Given the description of an element on the screen output the (x, y) to click on. 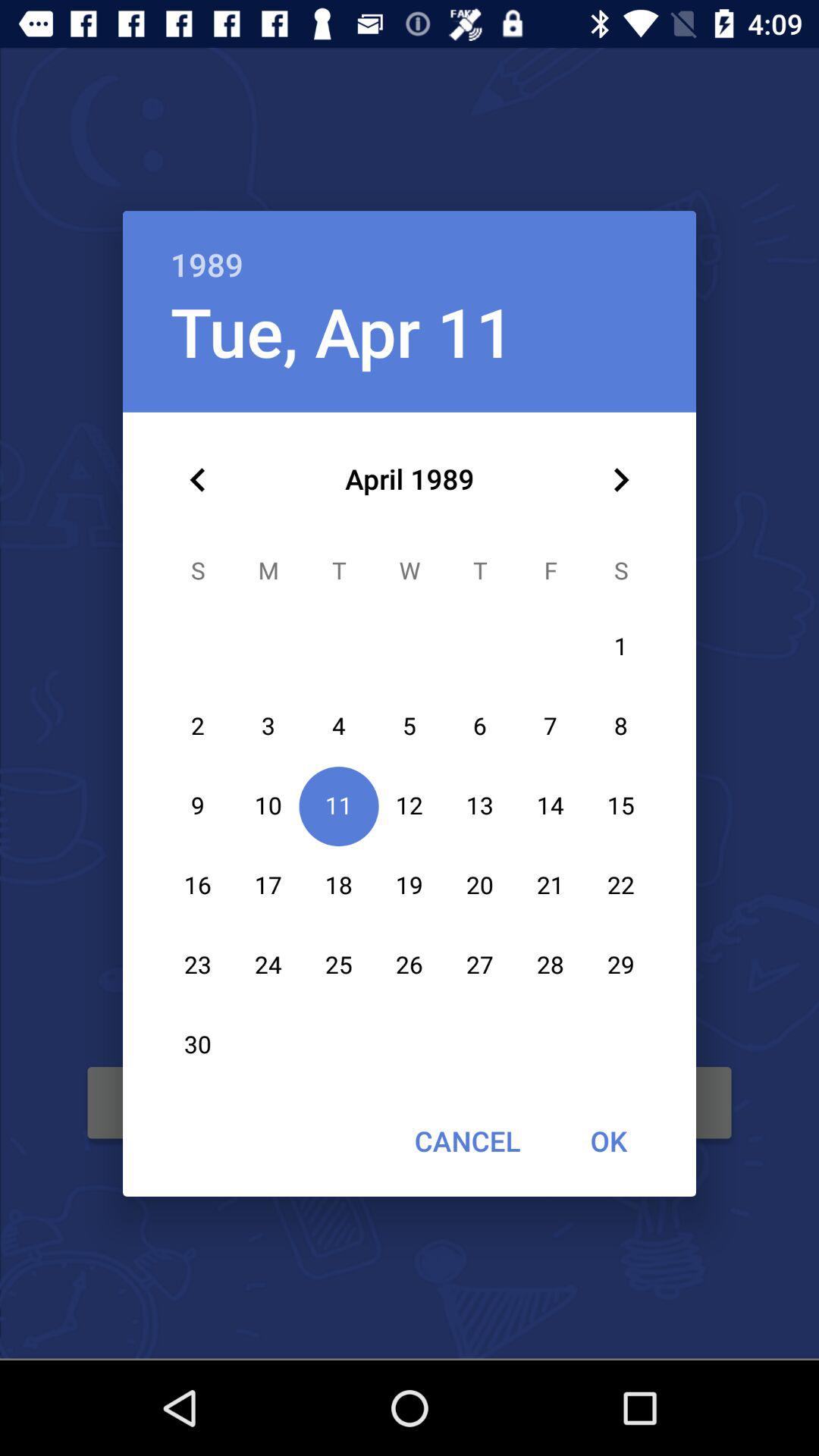
select the icon to the left of ok item (467, 1140)
